Given the description of an element on the screen output the (x, y) to click on. 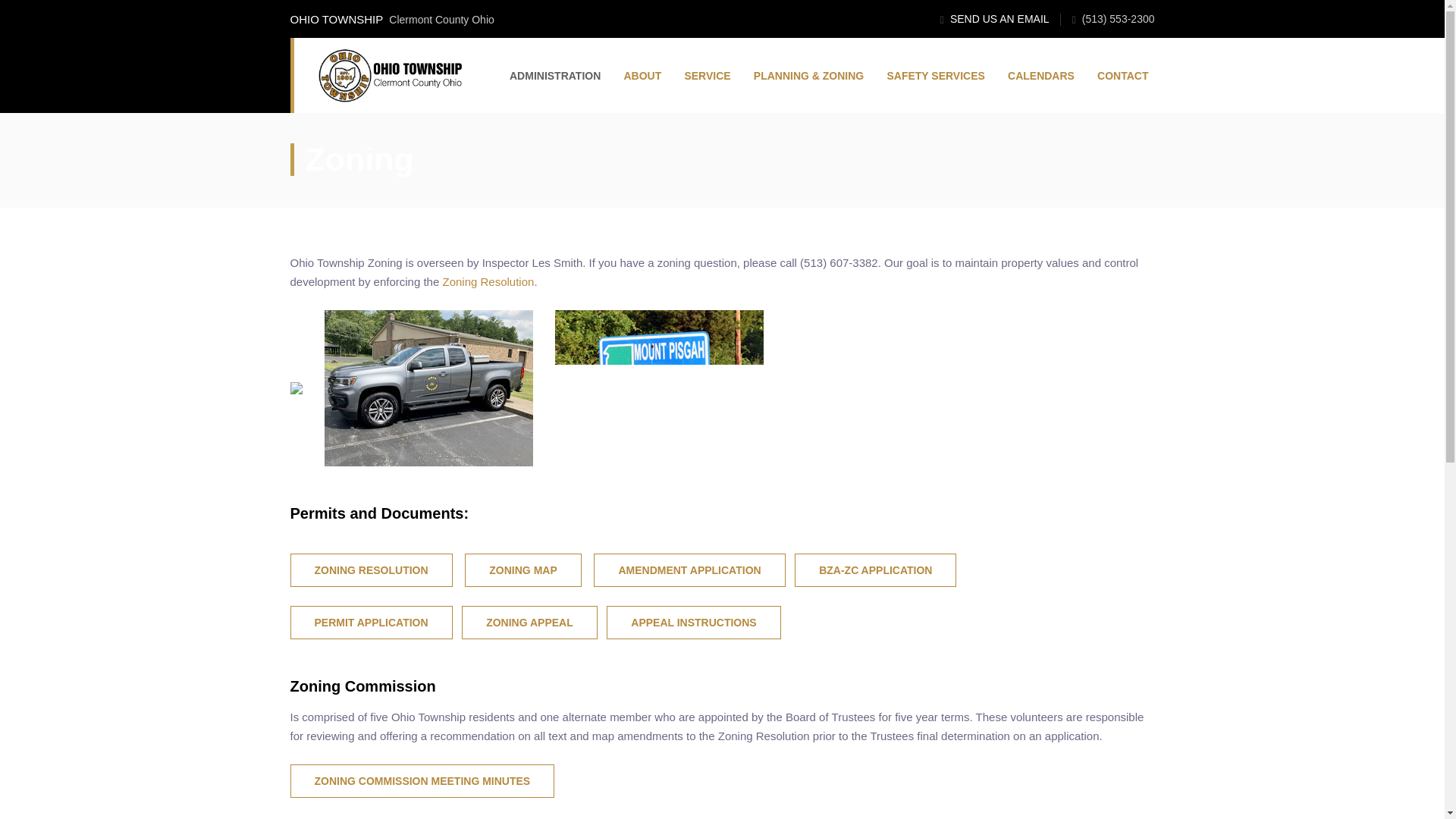
PERMIT APPLICATION (370, 622)
CONTACT (1118, 75)
SEND US AN EMAIL (999, 19)
ZONING RESOLUTION (370, 570)
BZA-ZC APPLICATION (875, 570)
AMENDMENT APPLICATION (689, 570)
ZONING COMMISSION MEETING MINUTES (421, 780)
ADMINISTRATION (551, 75)
Zoning Resolution (488, 281)
SAFETY SERVICES (931, 75)
